Given the description of an element on the screen output the (x, y) to click on. 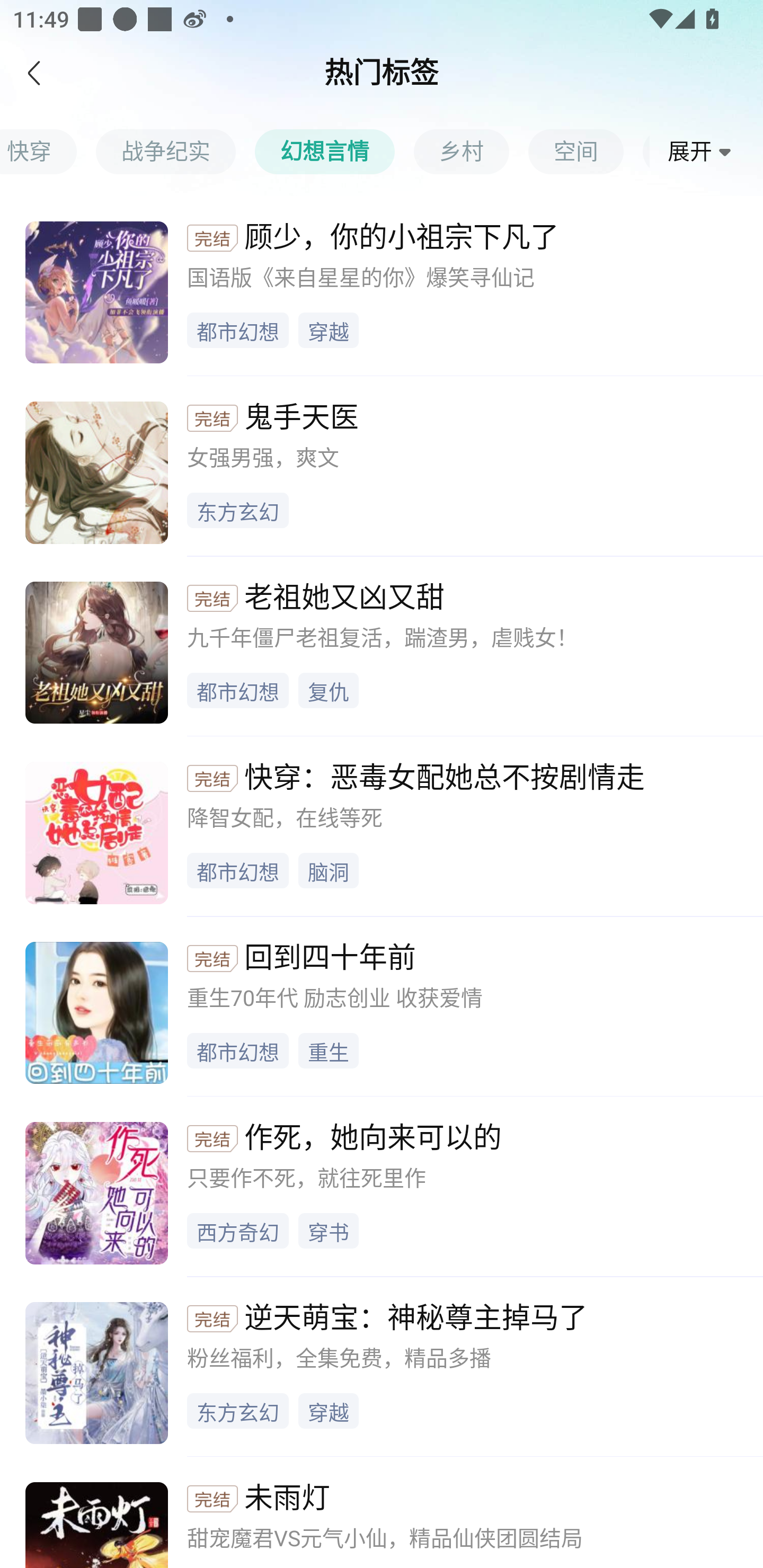
快穿 (48, 151)
战争纪实 (175, 151)
幻想言情 (333, 151)
乡村 (470, 151)
空间 (584, 151)
展开 (702, 151)
00顾少，你的小祖宗下凡了 国语版《来自星星的你》爆笑寻仙记 都市幻想 穿越 (381, 286)
00鬼手天医 女强男强，爽文 东方玄幻 (381, 465)
00老祖她又凶又甜 九千年僵尸老祖复活，踹渣男，虐贱女！ 都市幻想 复仇 (381, 645)
00快穿：恶毒女配她总不按剧情走 降智女配，在线等死 都市幻想 脑洞 (381, 825)
00回到四十年前 重生70年代 励志创业 收获爱情 都市幻想 重生 (381, 1005)
00作死，她向来可以的 只要作不死，就往死里作 西方奇幻 穿书 (381, 1186)
00逆天萌宝：神秘尊主掉马了 粉丝福利，全集免费，精品多播 东方玄幻 穿越 (381, 1366)
00未雨灯 甜宠魔君VS元气小仙，精品仙侠团圆结局 (381, 1512)
